Given the description of an element on the screen output the (x, y) to click on. 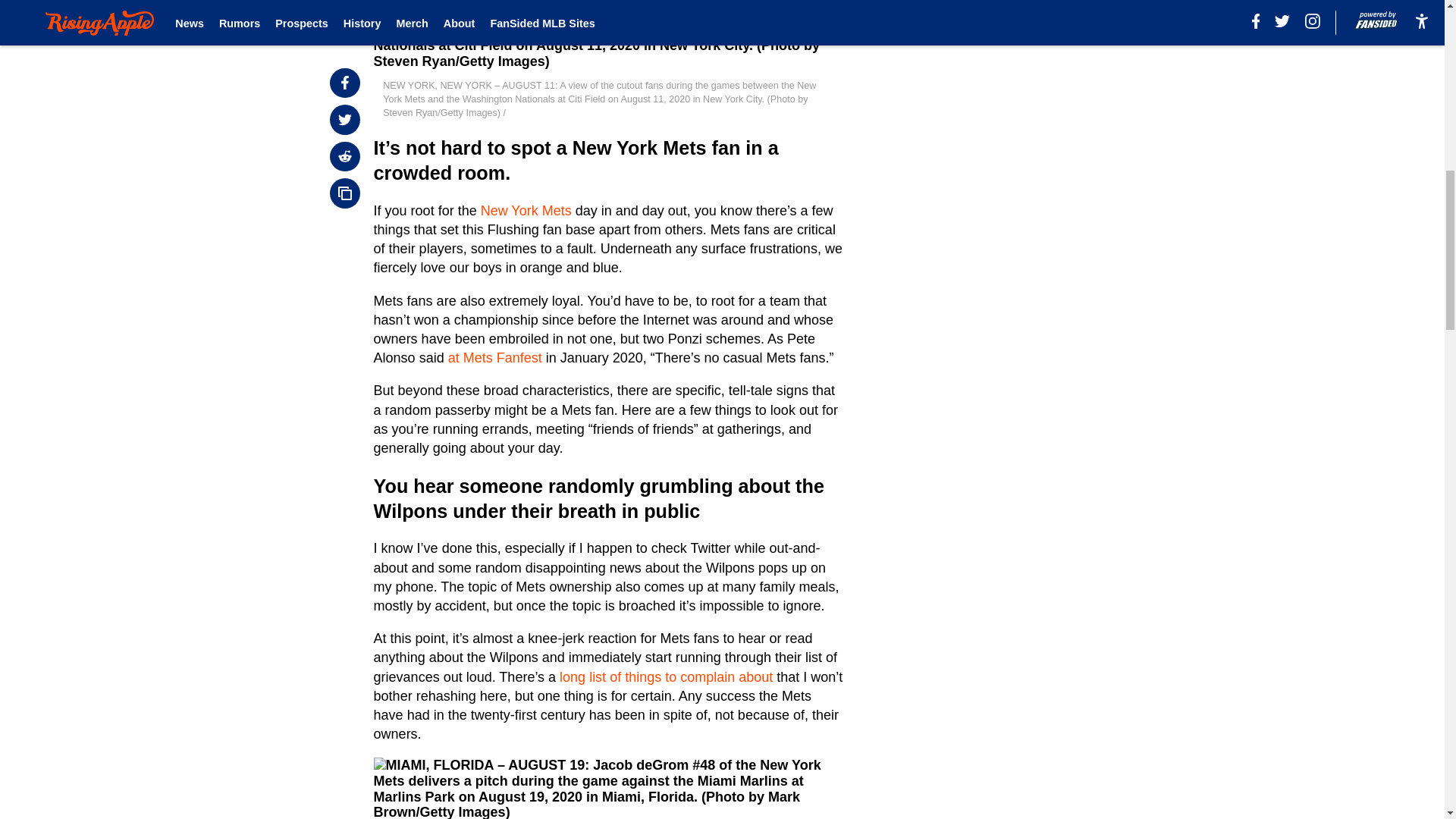
New York Mets (526, 210)
Next (388, 2)
Next (426, 3)
at Mets Fanfest (494, 357)
long list of things to complain about (666, 676)
